Given the description of an element on the screen output the (x, y) to click on. 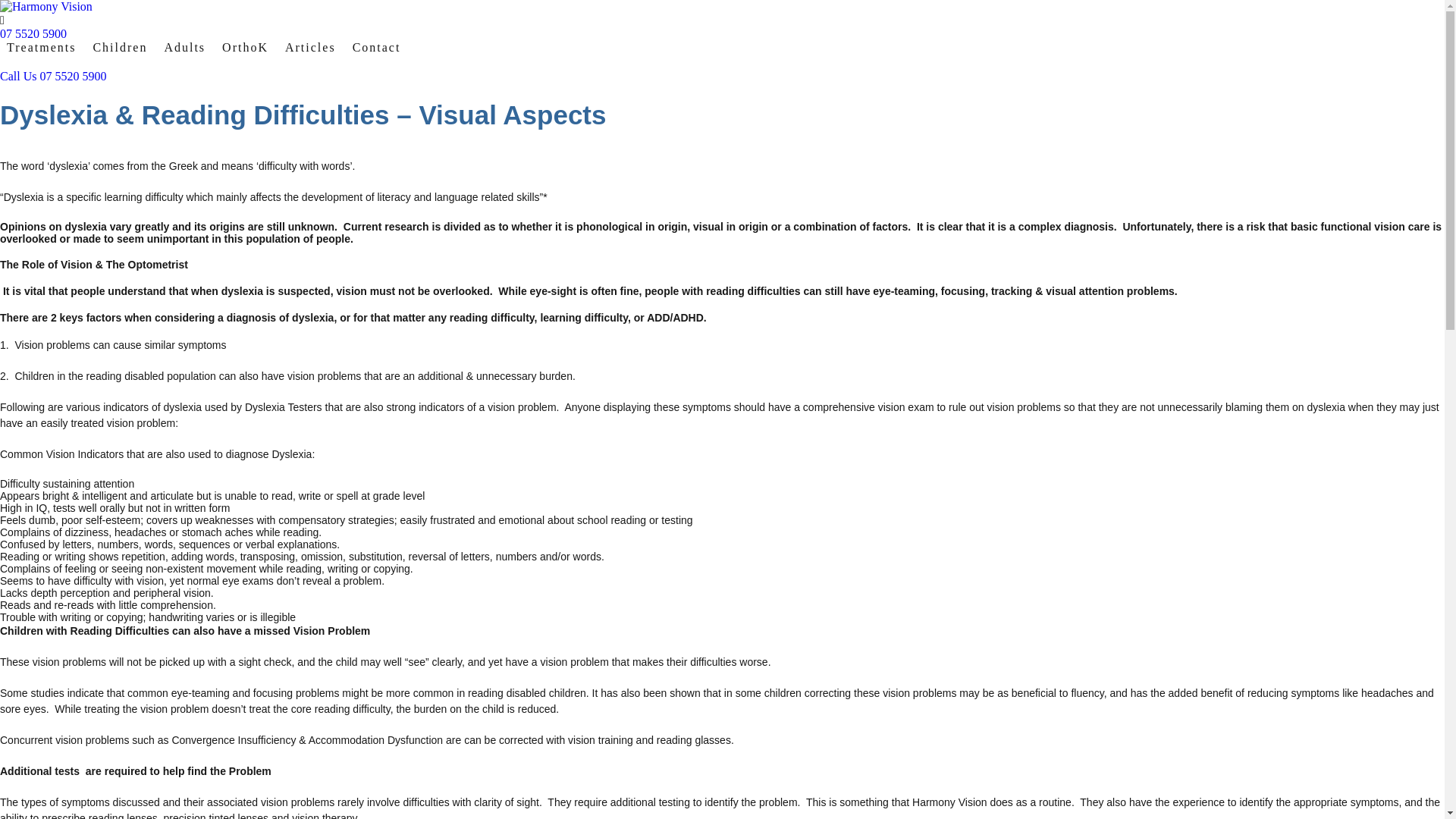
Articles Element type: text (310, 47)
Adults Element type: text (184, 47)
Contact Element type: text (376, 47)
Children Element type: text (119, 47)
Treatments Element type: text (40, 47)
07 5520 5900 Element type: text (722, 33)
Call Us 07 5520 5900 Element type: text (722, 76)
OrthoK Element type: text (245, 47)
